Given the description of an element on the screen output the (x, y) to click on. 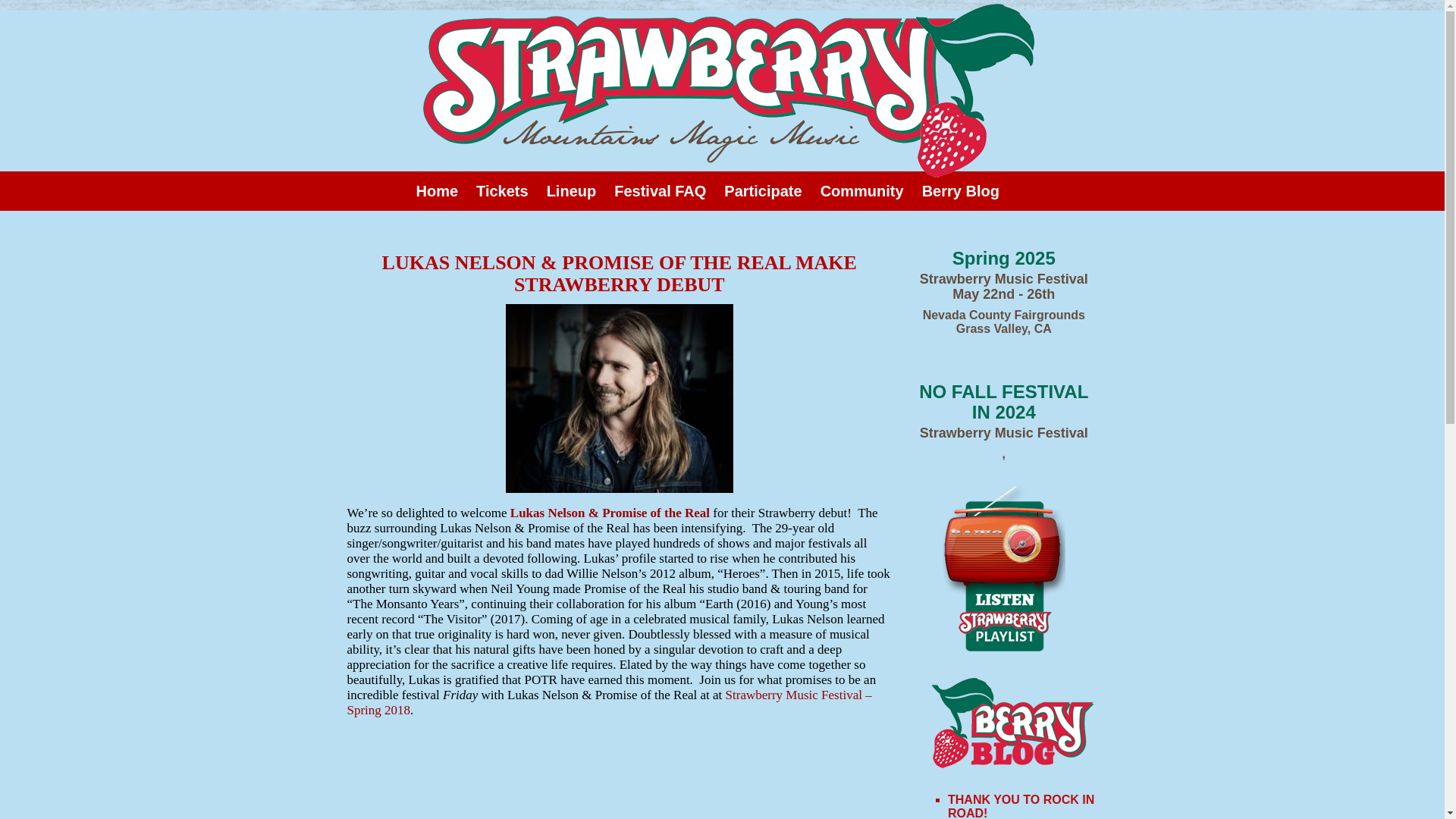
Berry Blog (960, 190)
Lineup (571, 190)
Home (437, 190)
THANK YOU TO ROCK IN ROAD! (1020, 806)
Festival FAQ (659, 190)
Participate (762, 190)
Community (861, 190)
Tickets (502, 190)
